Given the description of an element on the screen output the (x, y) to click on. 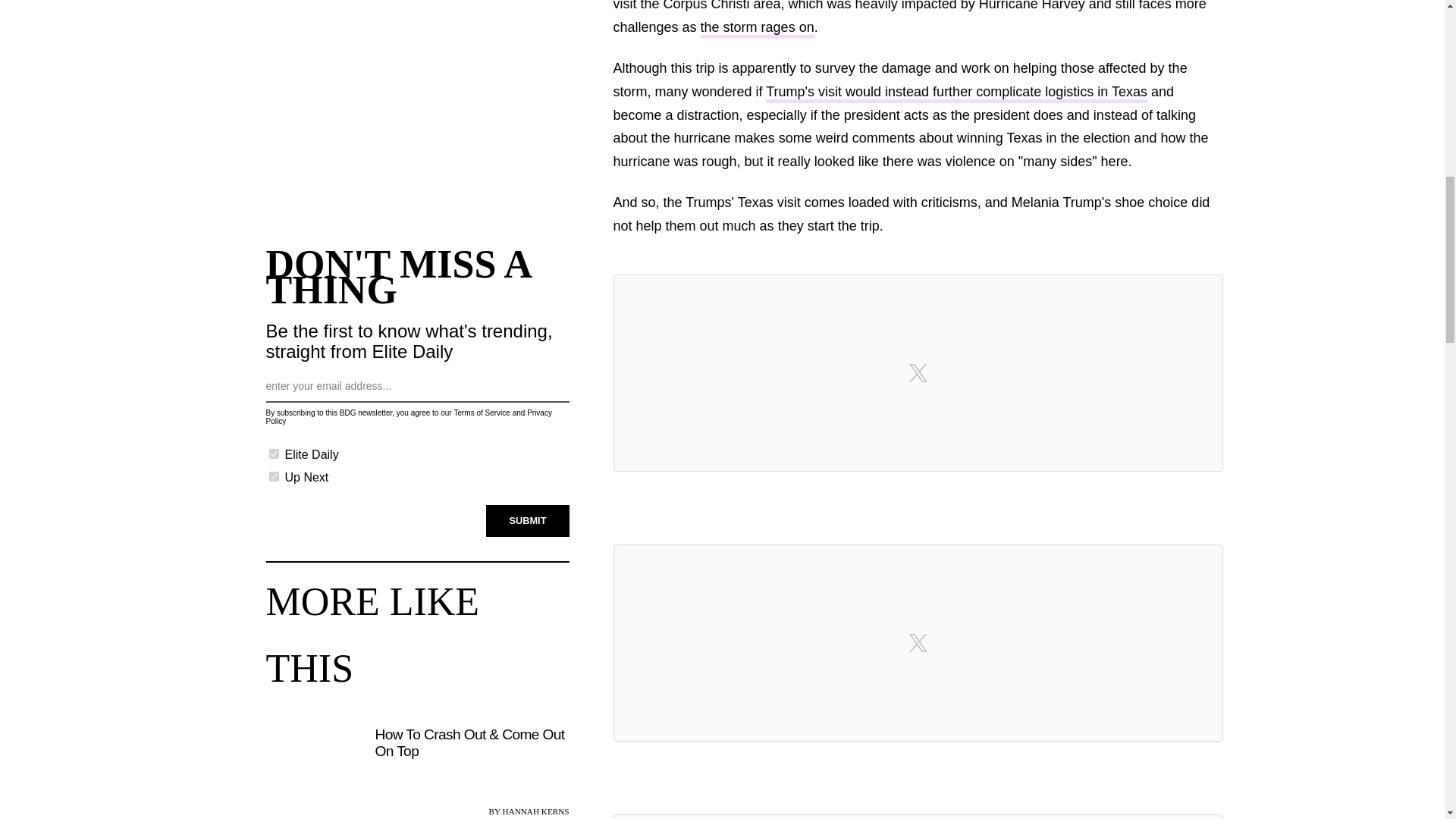
SUBMIT (527, 521)
the storm rages on (756, 28)
Privacy Policy (407, 416)
Terms of Service (480, 412)
